Given the description of an element on the screen output the (x, y) to click on. 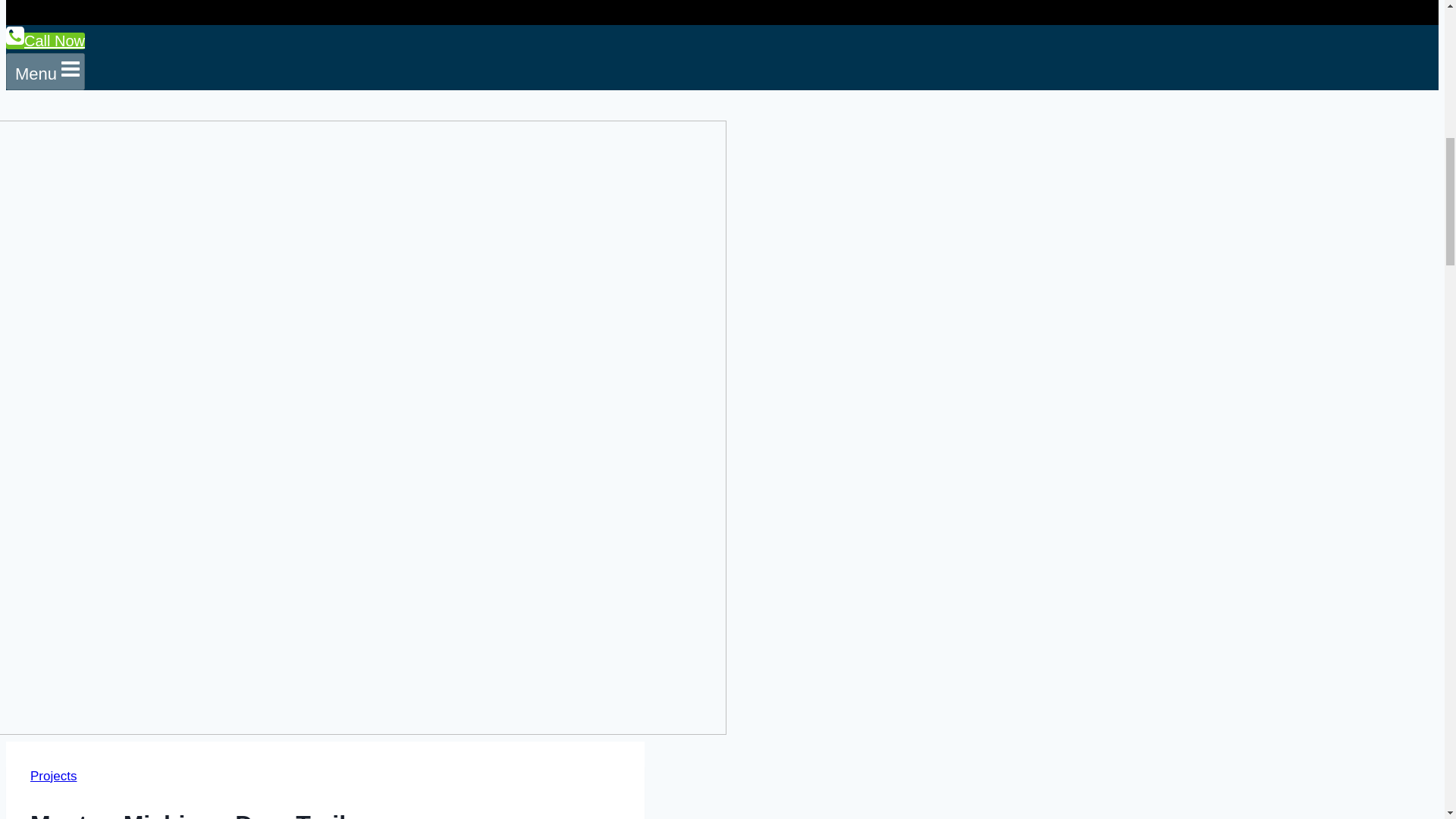
Phone Call Now (44, 40)
Projects (53, 775)
Menu Toggle Menu (44, 71)
